Given the description of an element on the screen output the (x, y) to click on. 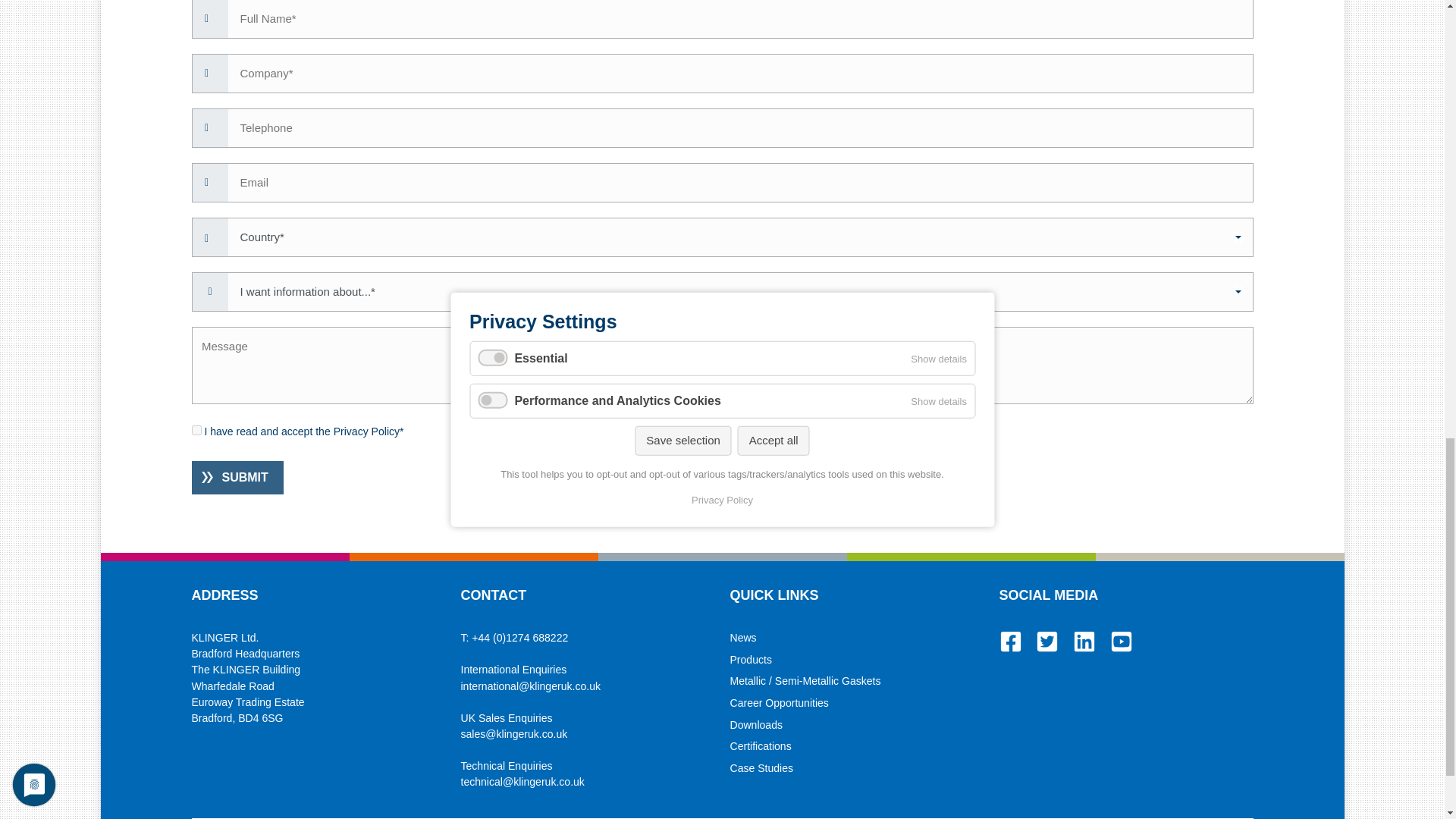
1 (195, 429)
